Given the description of an element on the screen output the (x, y) to click on. 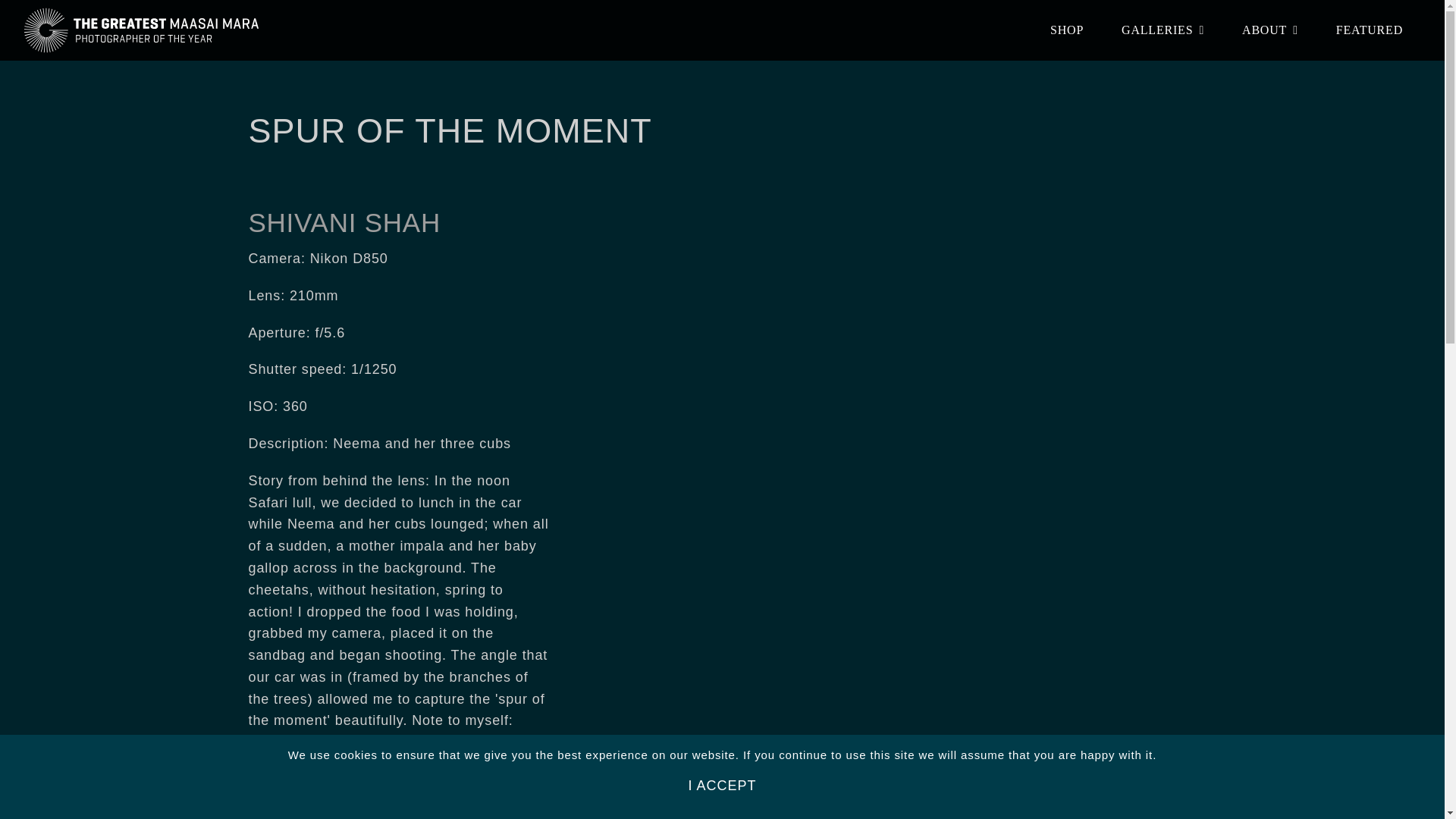
ABOUT (1269, 30)
GALLERIES (1162, 30)
I ACCEPT (721, 785)
FEATURED (1369, 30)
